Given the description of an element on the screen output the (x, y) to click on. 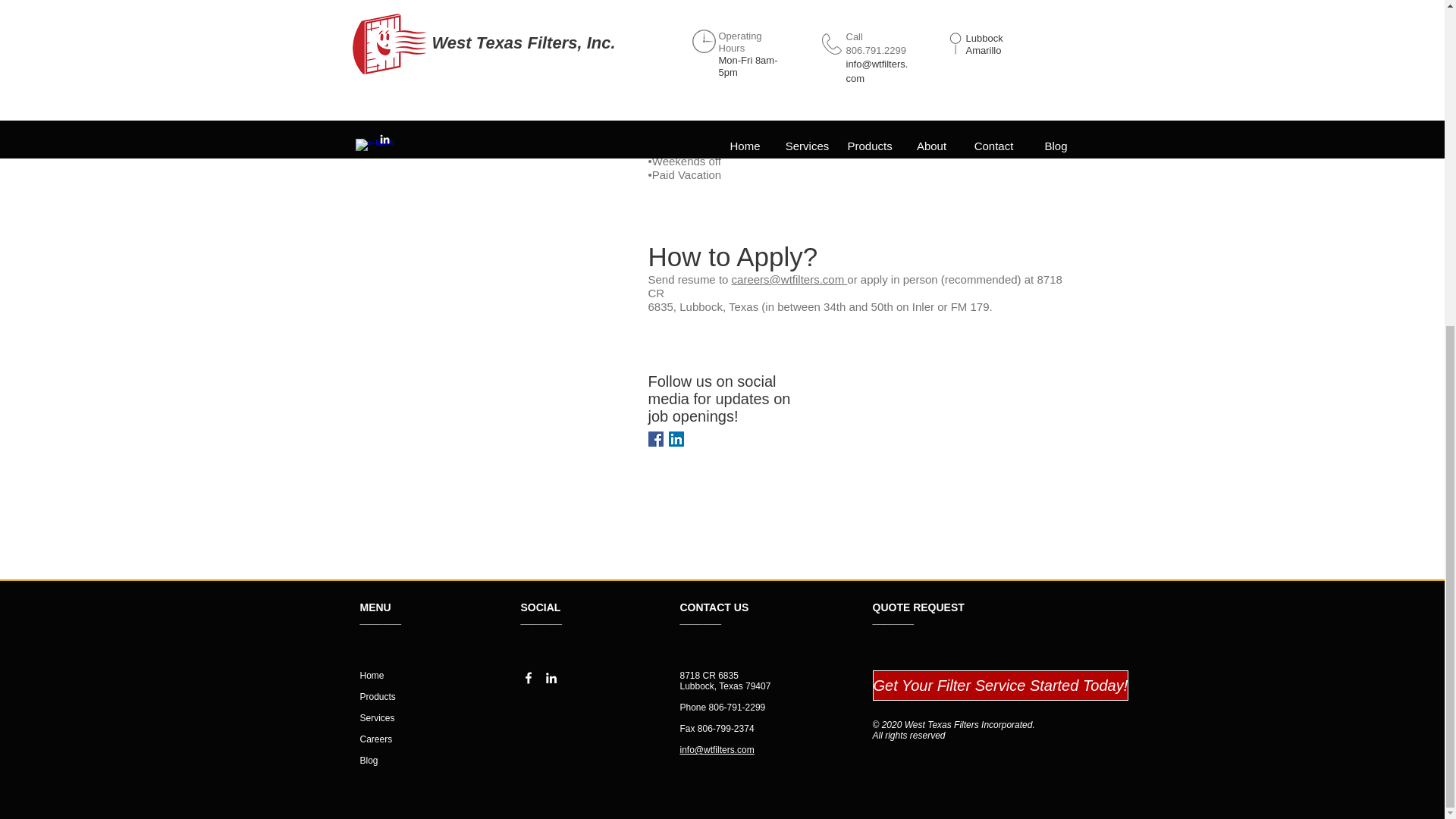
Home (371, 675)
Products (376, 696)
Blog (368, 760)
Get Your Filter Service Started Today! (1000, 685)
Careers (375, 738)
Services (376, 717)
